Given the description of an element on the screen output the (x, y) to click on. 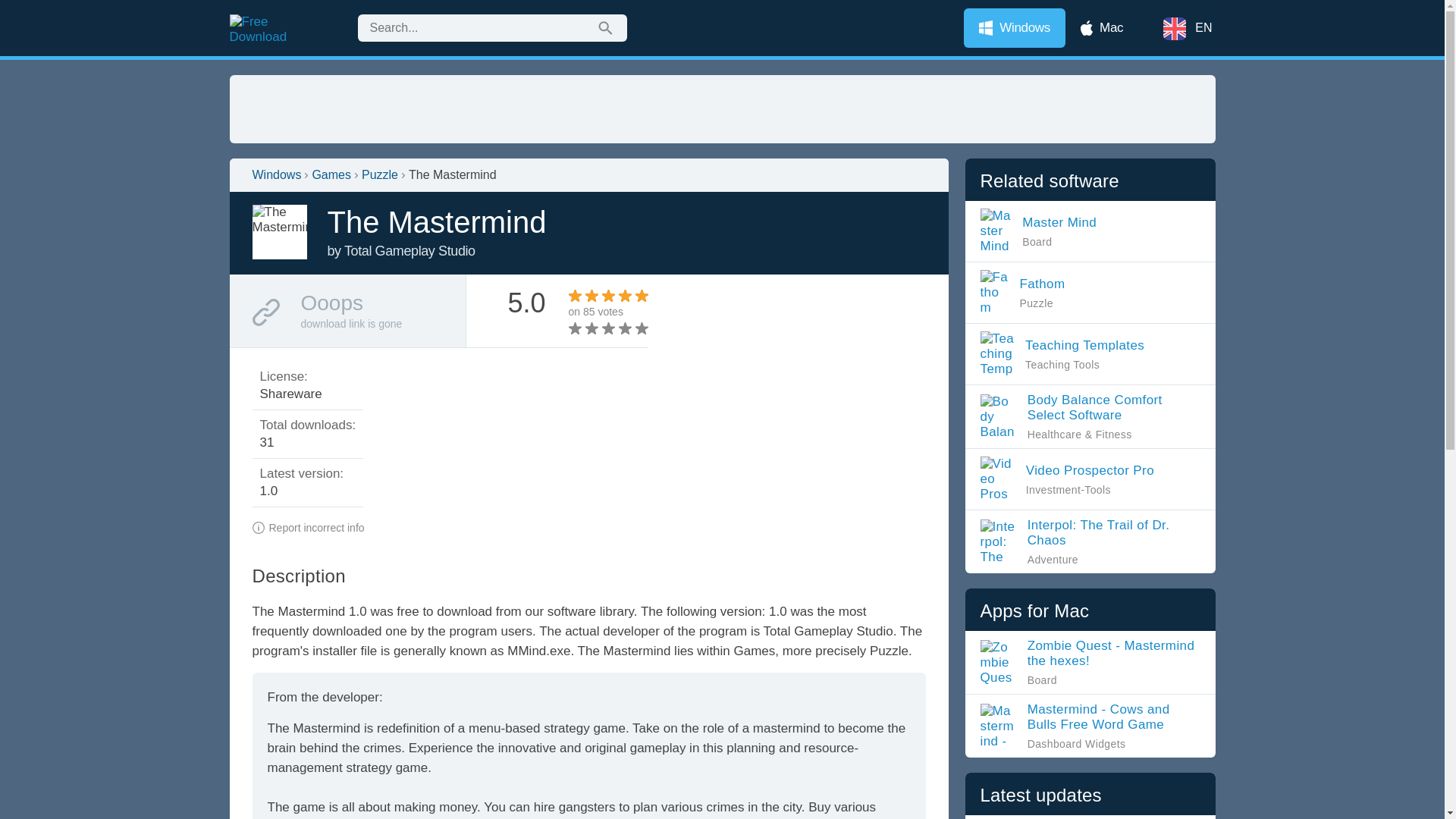
5 (608, 328)
Windows (1014, 27)
Mac (1101, 27)
Body Balance Comfort Select Software (1089, 416)
Mastermind - Cows and Bulls Free Word Game (1067, 353)
4 (1089, 662)
